Given the description of an element on the screen output the (x, y) to click on. 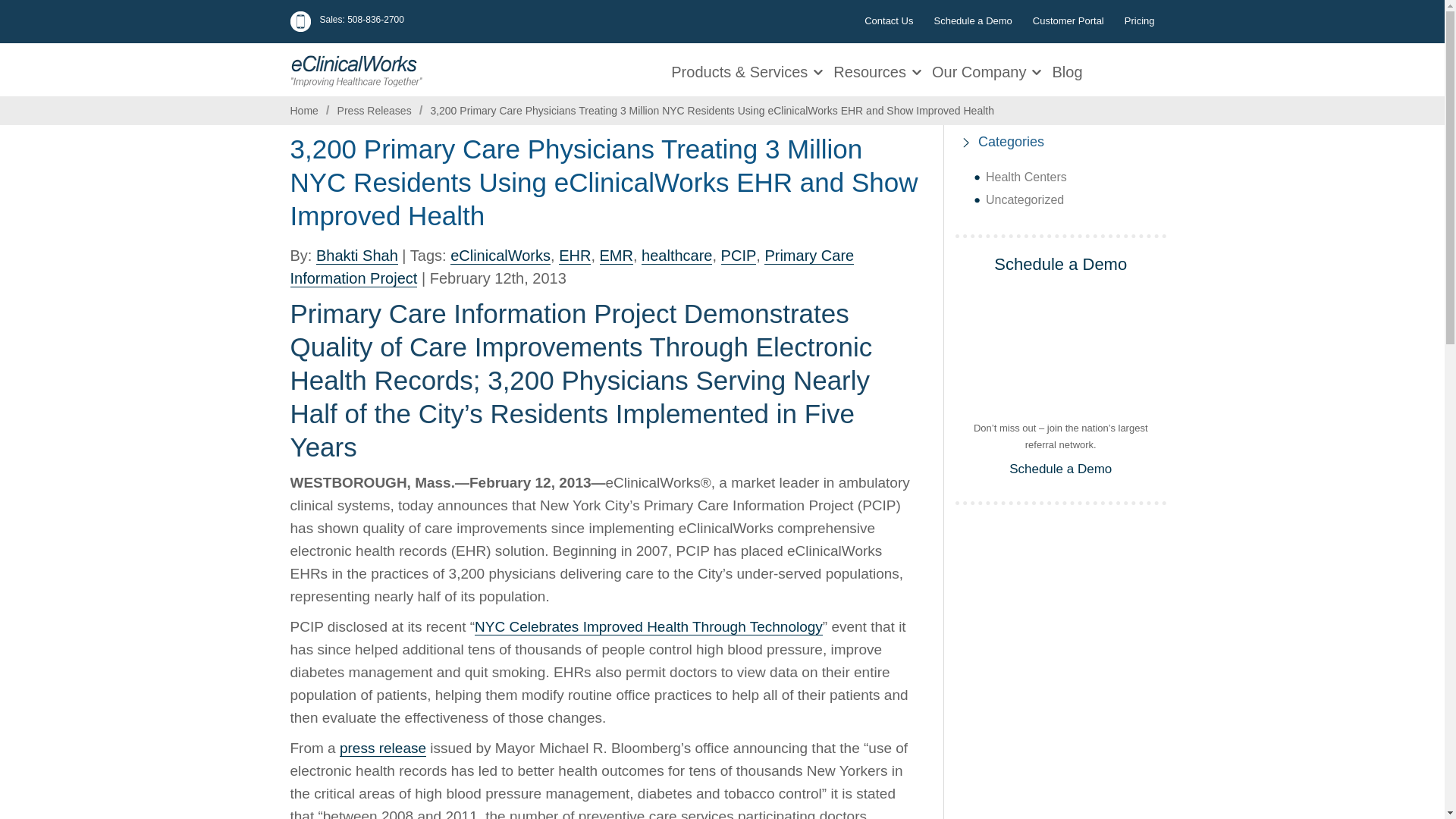
Bhakti Shah (356, 255)
Contact Us (888, 20)
Resources (871, 69)
Our Company (981, 69)
Customer Portal (1067, 20)
Pricing (1139, 20)
Pricing (1139, 20)
Contact Us (888, 20)
Schedule a Demo (972, 20)
Customer Portal (1067, 20)
